Given the description of an element on the screen output the (x, y) to click on. 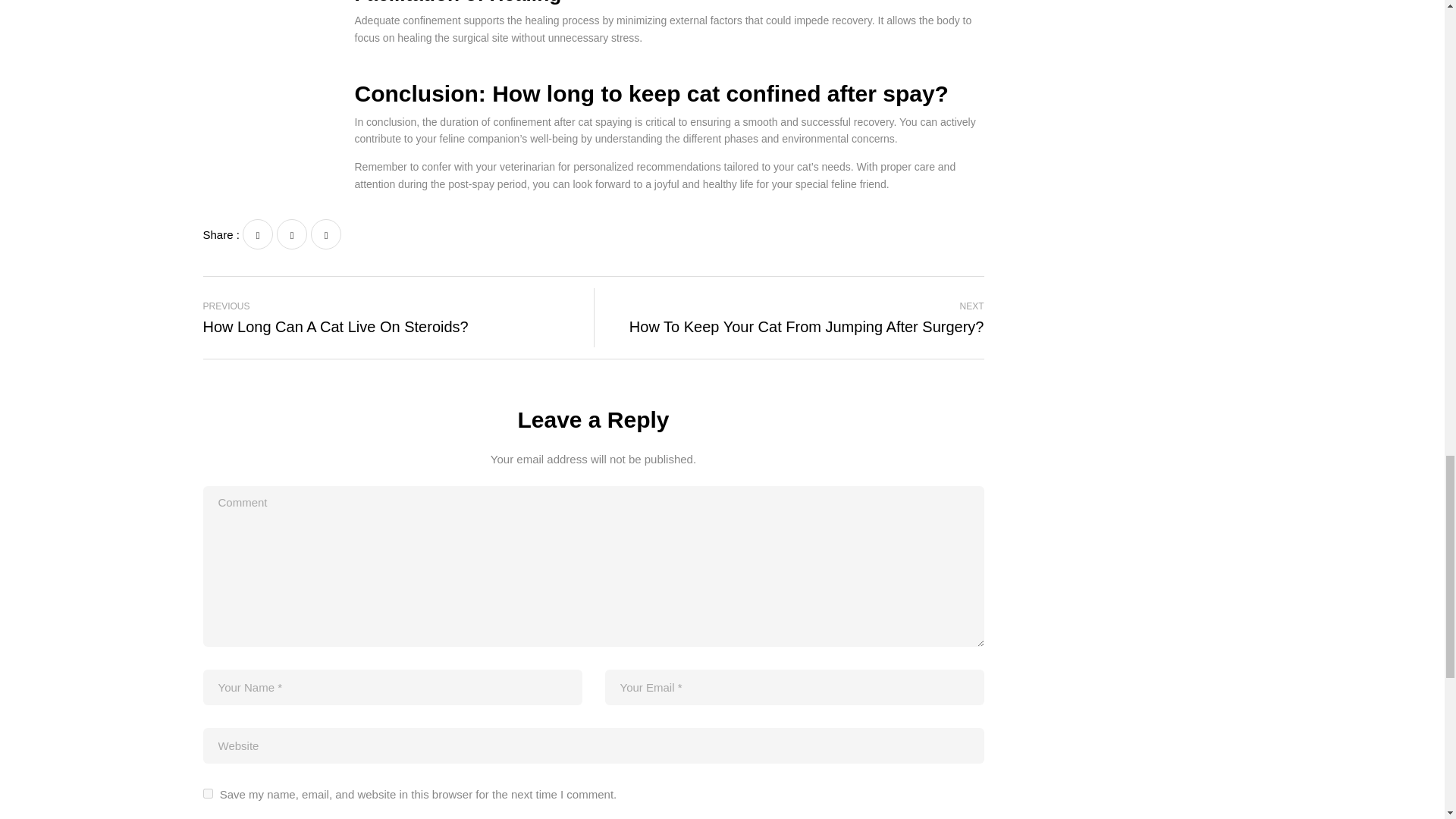
Facebook (258, 234)
LinkedIn (325, 234)
Twitter (291, 234)
yes (794, 317)
